Given the description of an element on the screen output the (x, y) to click on. 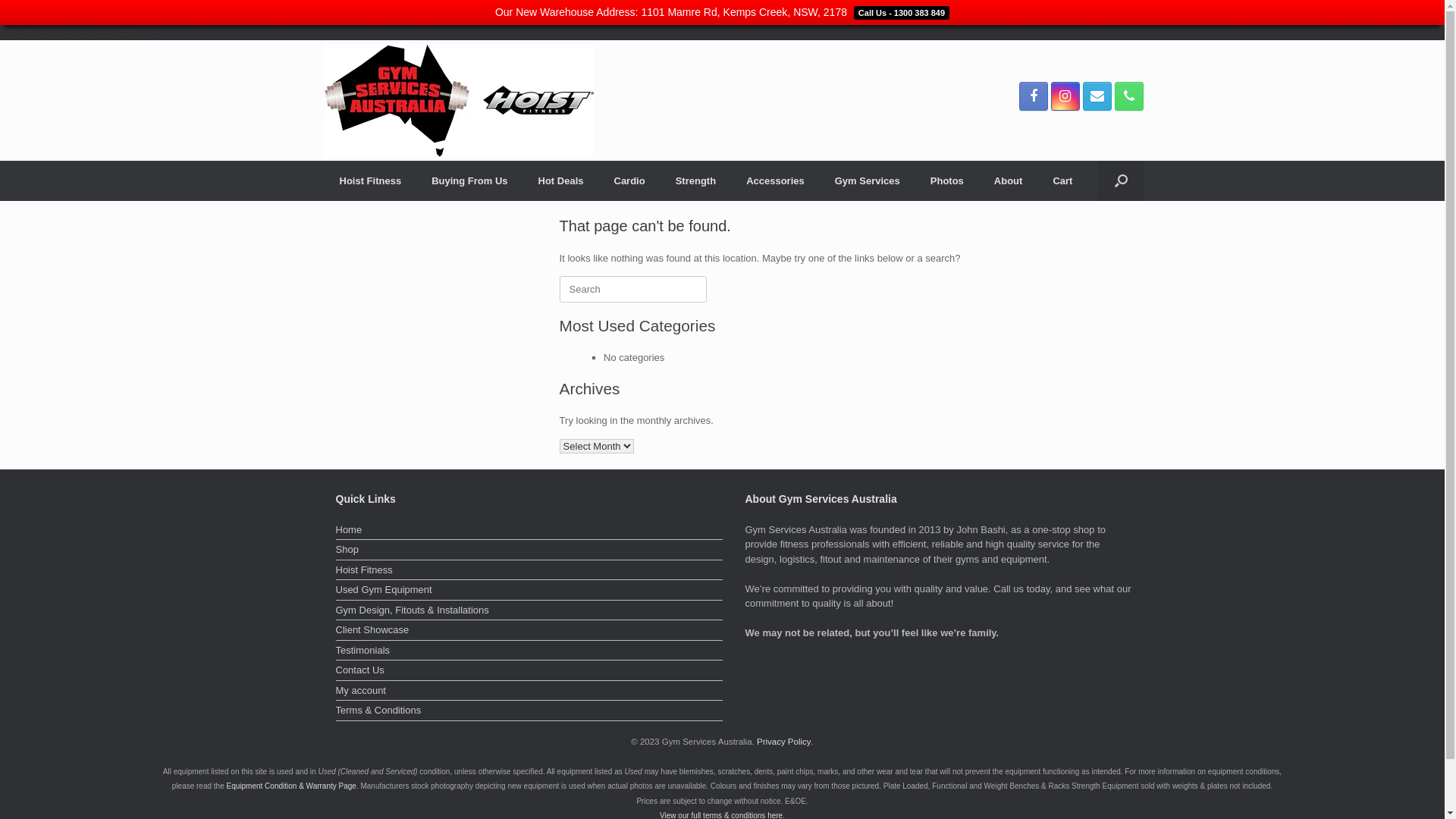
Shop Element type: text (528, 551)
Terms & Conditions Element type: text (528, 711)
Hot Deals Element type: text (561, 180)
Gym Services Australia Element type: hover (458, 99)
Hoist Fitness Element type: text (370, 180)
Gym Services Element type: text (867, 180)
Call Us - 1300 383 849 Element type: text (899, 12)
Gym Services Australia Facebook Element type: hover (1033, 95)
Gym Services Australia Phone Element type: hover (1128, 95)
Gym Services Australia Instagram Element type: hover (1065, 95)
Cart Element type: text (1062, 180)
Cardio Element type: text (629, 180)
Photos Element type: text (947, 180)
Strength Element type: text (695, 180)
Privacy Policy Element type: text (783, 741)
About Element type: text (1008, 180)
Hoist Fitness Element type: text (528, 571)
Contact Us Element type: text (528, 671)
Equipment Condition & Warranty Page Element type: text (291, 785)
Home Element type: text (528, 531)
Testimonials Element type: text (528, 652)
Client Showcase Element type: text (528, 631)
Buying From Us Element type: text (469, 180)
My account Element type: text (528, 692)
Gym Services Australia Email Element type: hover (1096, 95)
Accessories Element type: text (775, 180)
Gym Design, Fitouts & Installations Element type: text (528, 611)
Used Gym Equipment Element type: text (528, 591)
